Given the description of an element on the screen output the (x, y) to click on. 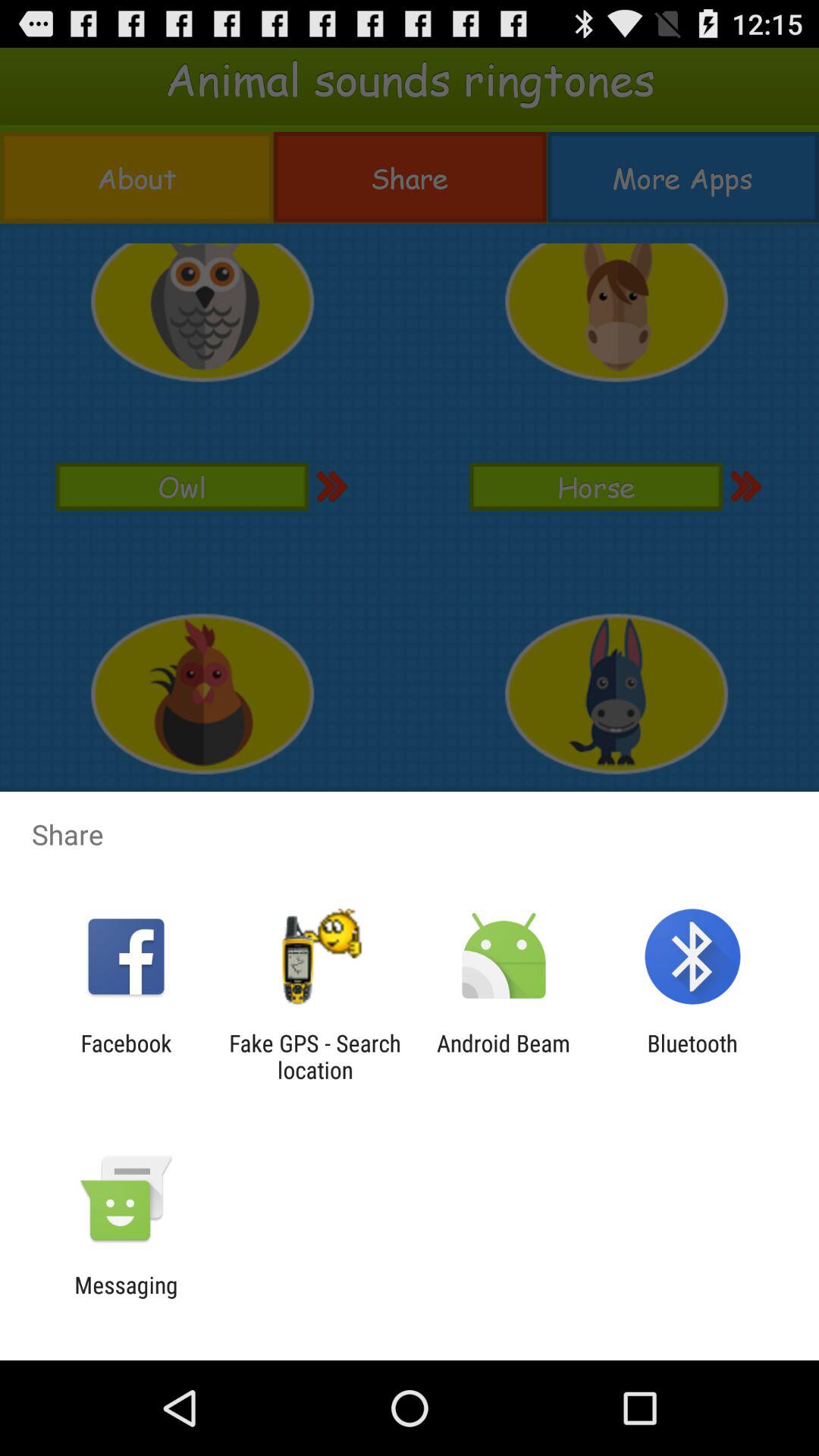
scroll to android beam icon (503, 1056)
